Given the description of an element on the screen output the (x, y) to click on. 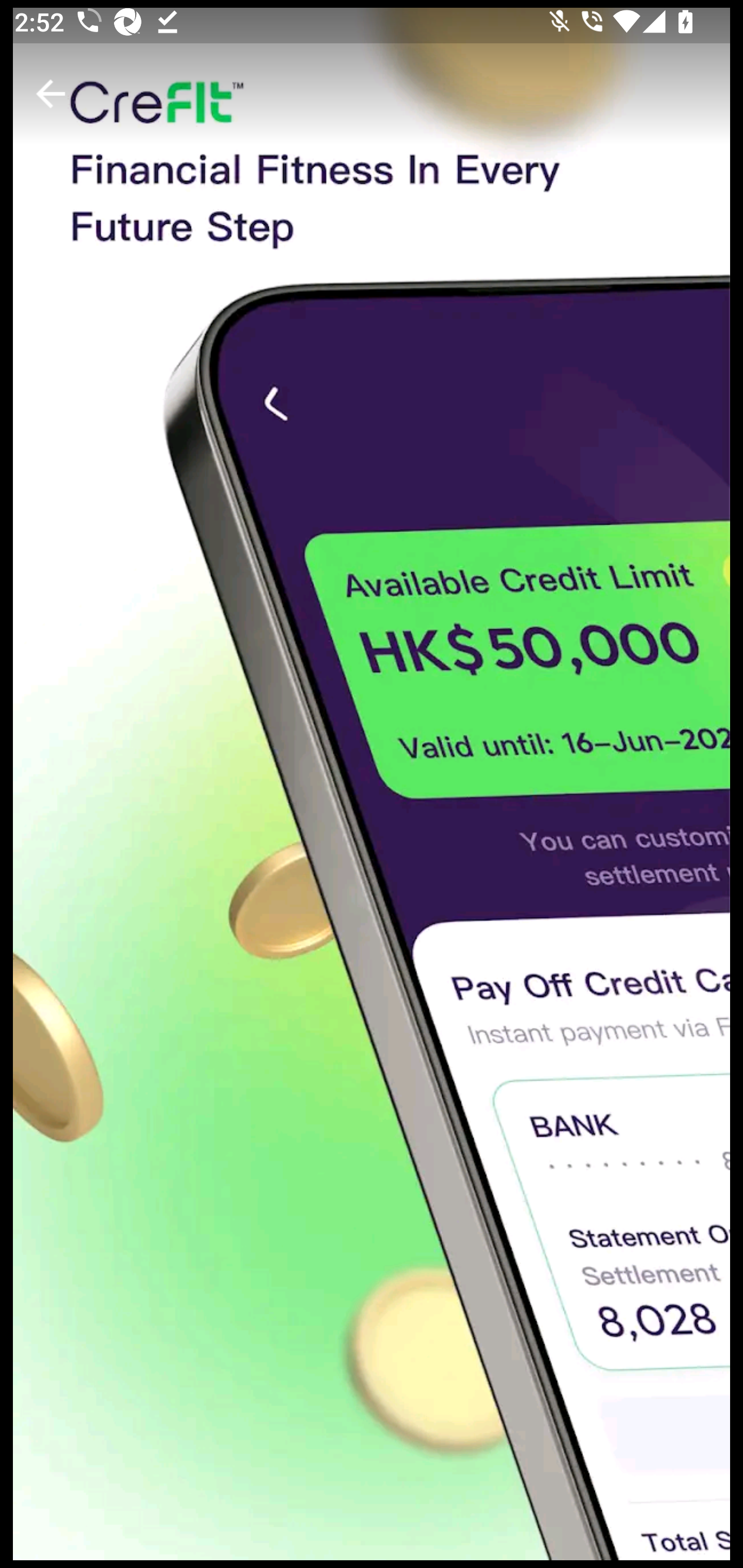
Back (50, 93)
